Given the description of an element on the screen output the (x, y) to click on. 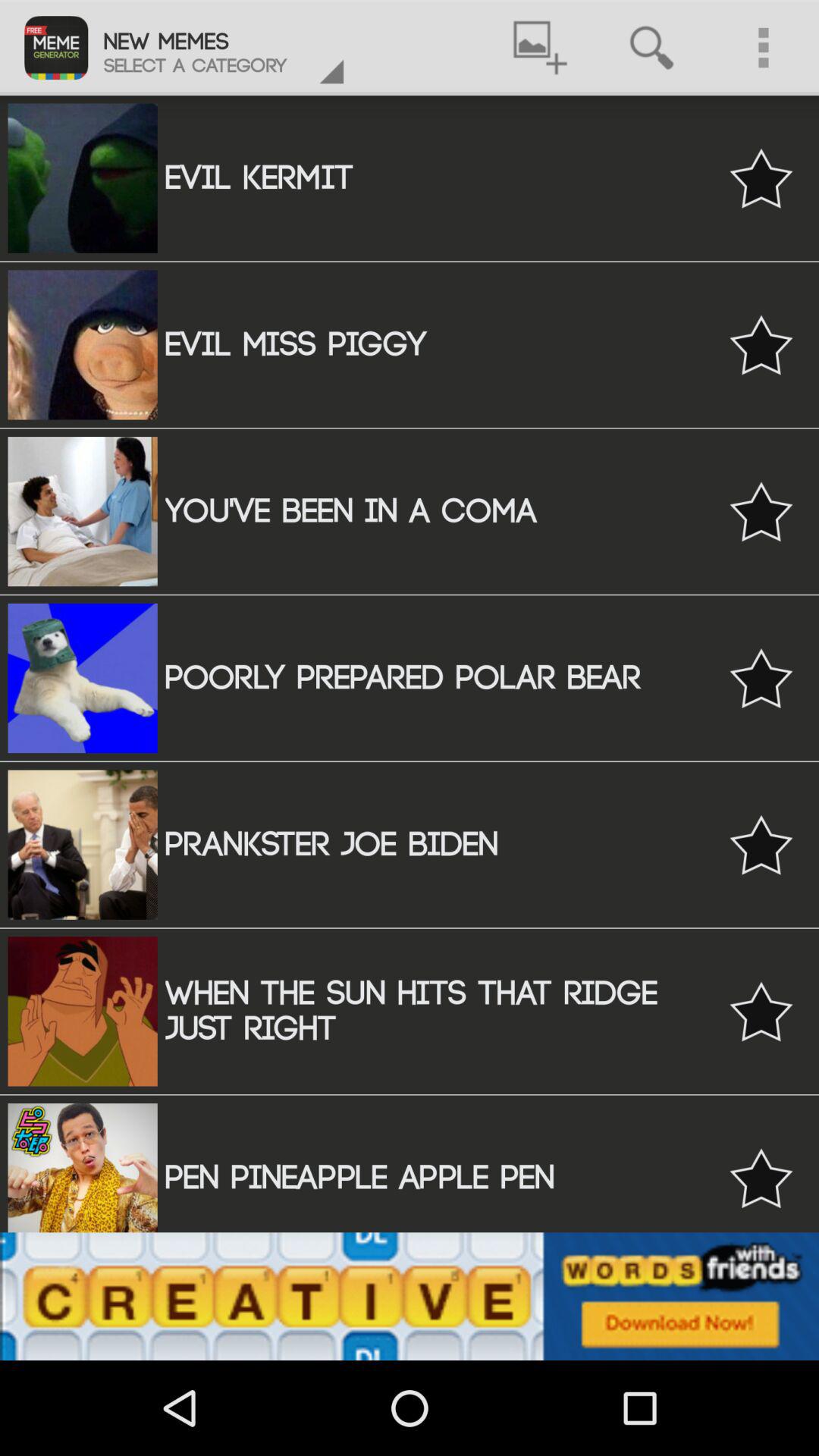
add to favorite (761, 511)
